Given the description of an element on the screen output the (x, y) to click on. 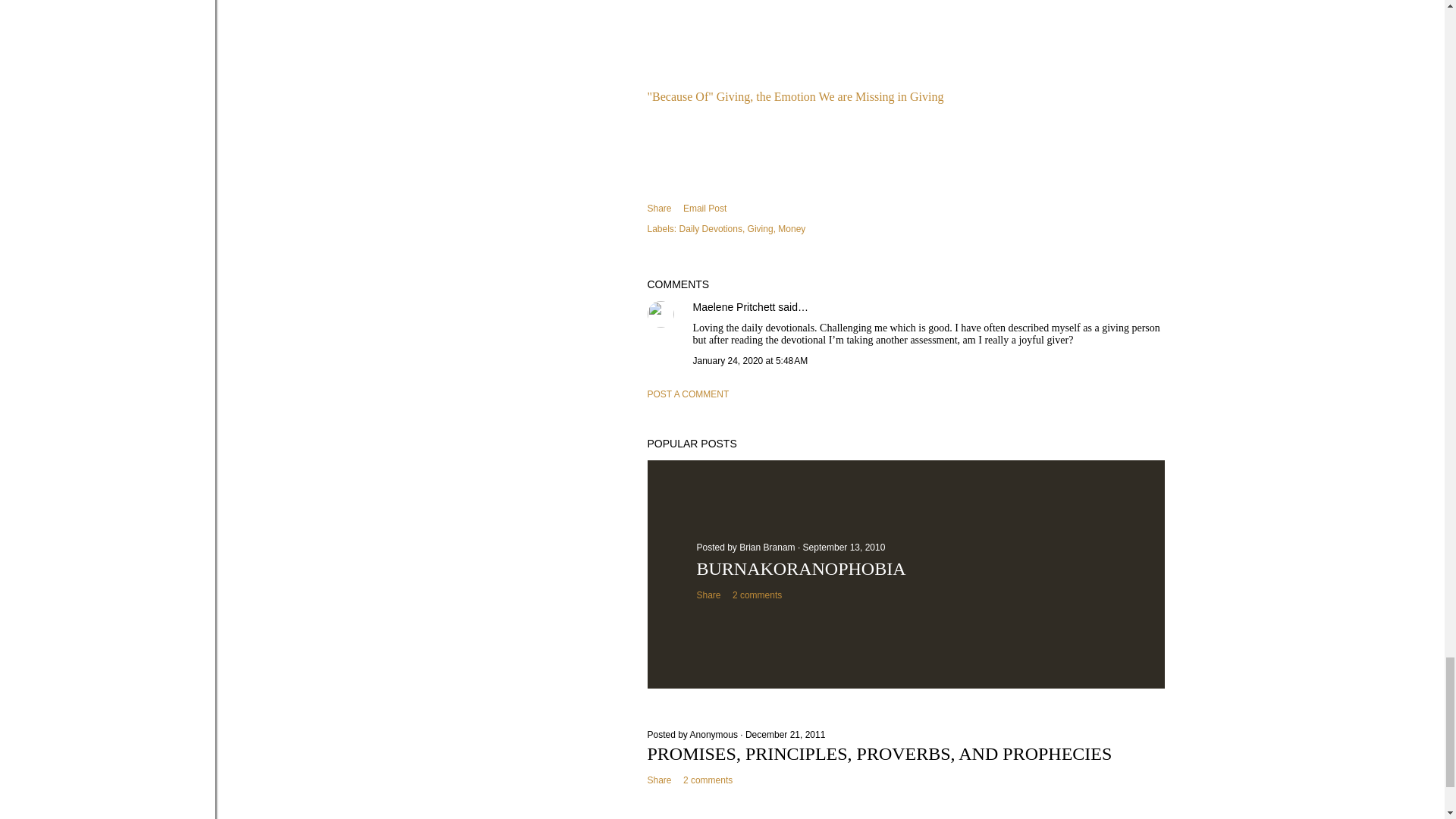
2 comments (707, 779)
Money (791, 228)
Brian Branam (768, 547)
BURNAKORANOPHOBIA (800, 568)
Daily Devotions (712, 228)
PROMISES, PRINCIPLES, PROVERBS, AND PROPHECIES (879, 753)
Share (659, 779)
Share (707, 594)
POST A COMMENT (688, 394)
"Because Of" Giving, the Emotion We are Missing in Giving (795, 96)
